Given the description of an element on the screen output the (x, y) to click on. 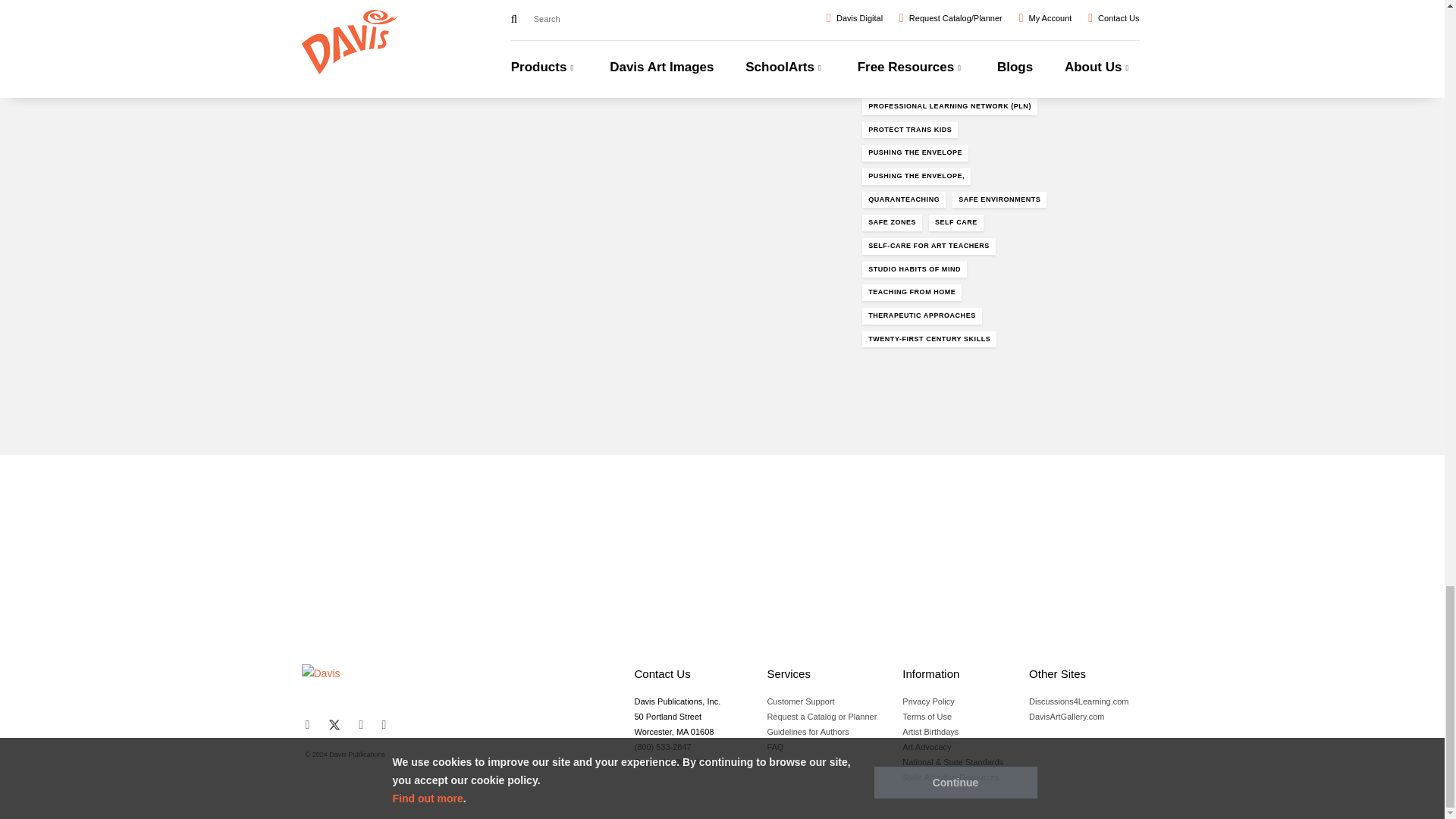
SchoolArts on Instagram (360, 725)
SchoolArts and Davis on Facebook (306, 725)
Davis on Pinterest (384, 725)
